Given the description of an element on the screen output the (x, y) to click on. 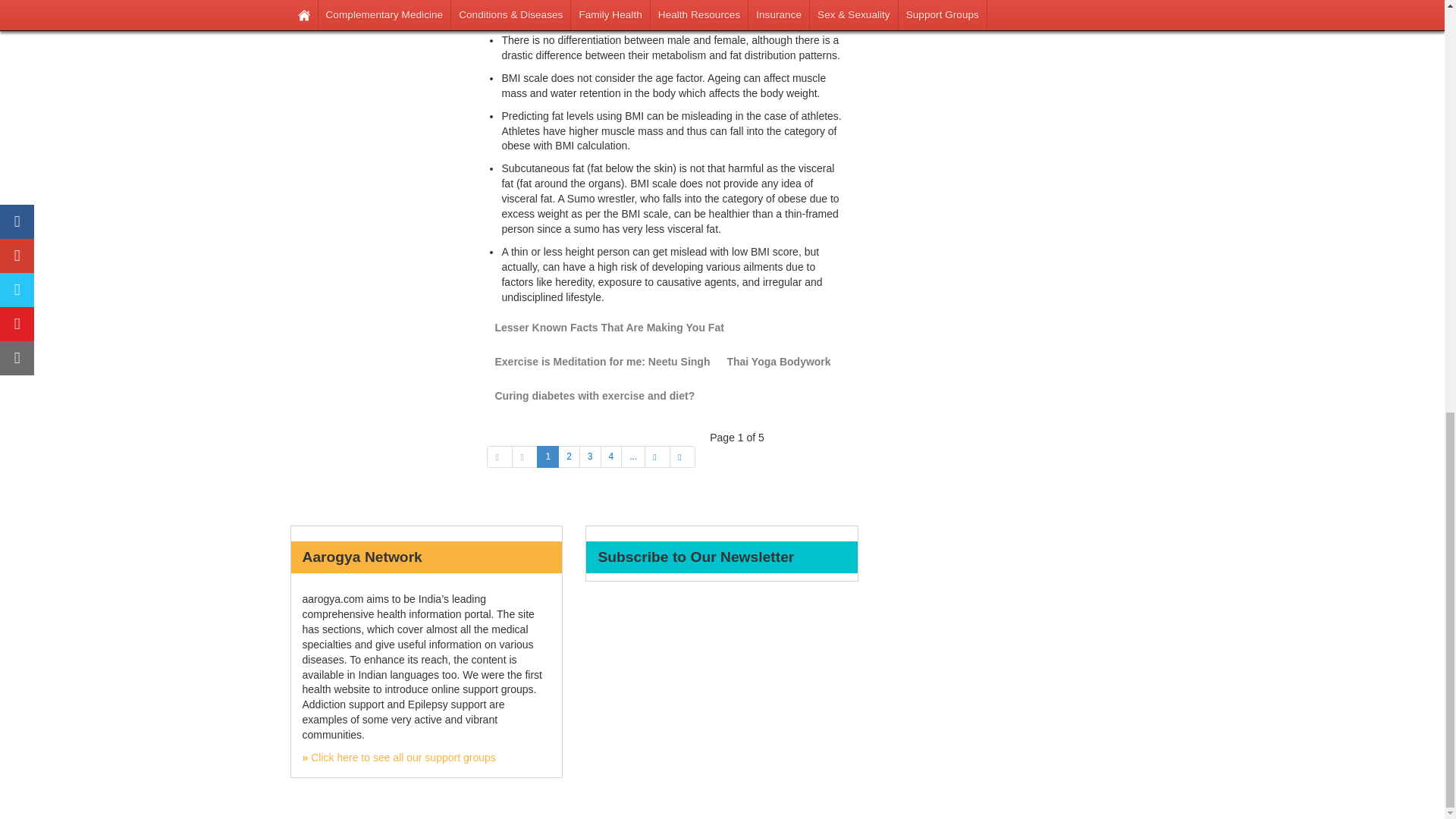
5 (633, 456)
End (682, 456)
3 (590, 456)
2 (568, 456)
4 (611, 456)
Aarogya Network (398, 757)
Next (657, 456)
